Given the description of an element on the screen output the (x, y) to click on. 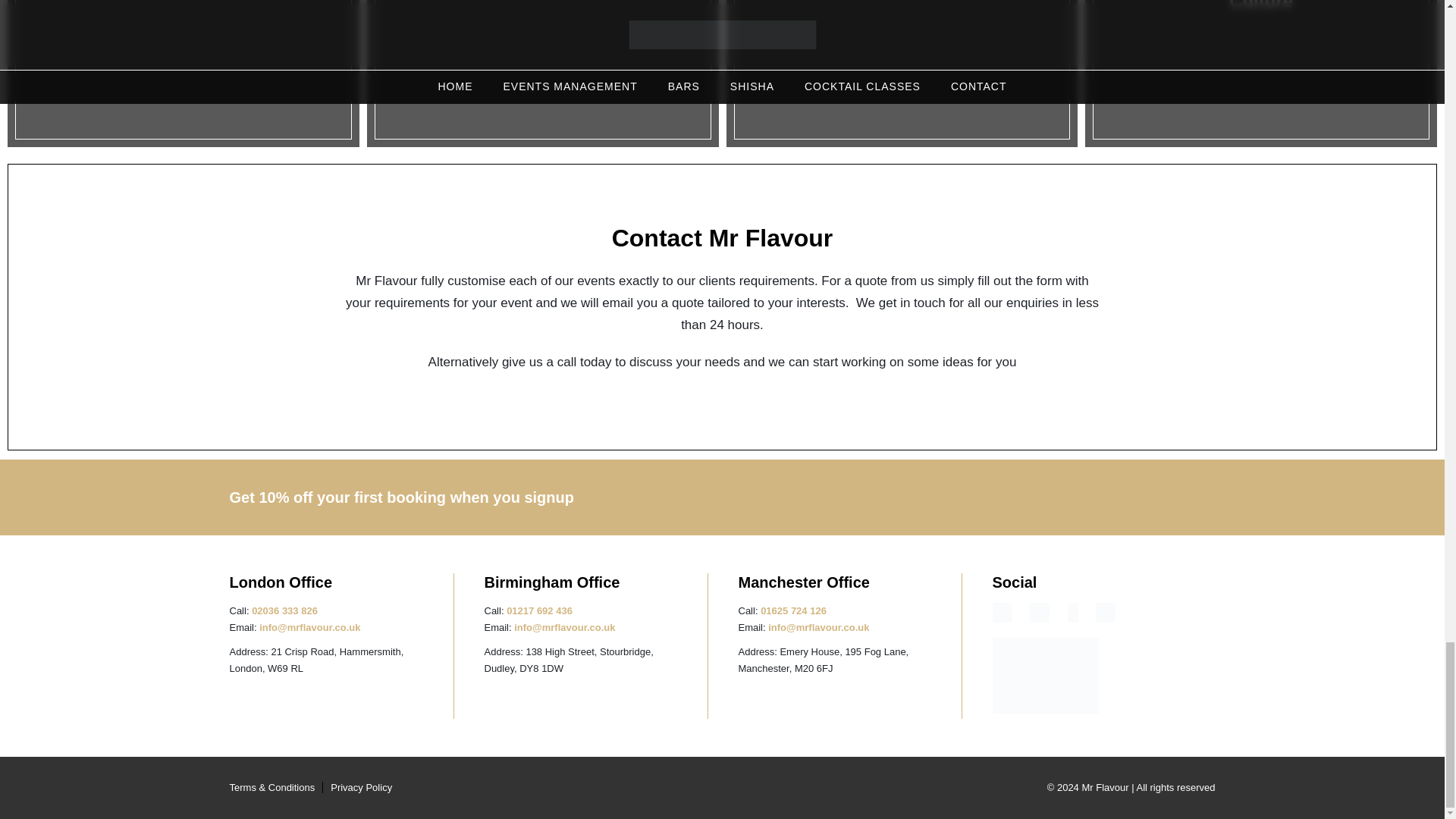
Mixology with a Mobile Cocktail Bars! (546, 77)
01625 724 126 (793, 610)
02036 333 826 (284, 610)
Top 5 Valentines Day Cocktails (906, 77)
01217 692 436 (539, 610)
